Given the description of an element on the screen output the (x, y) to click on. 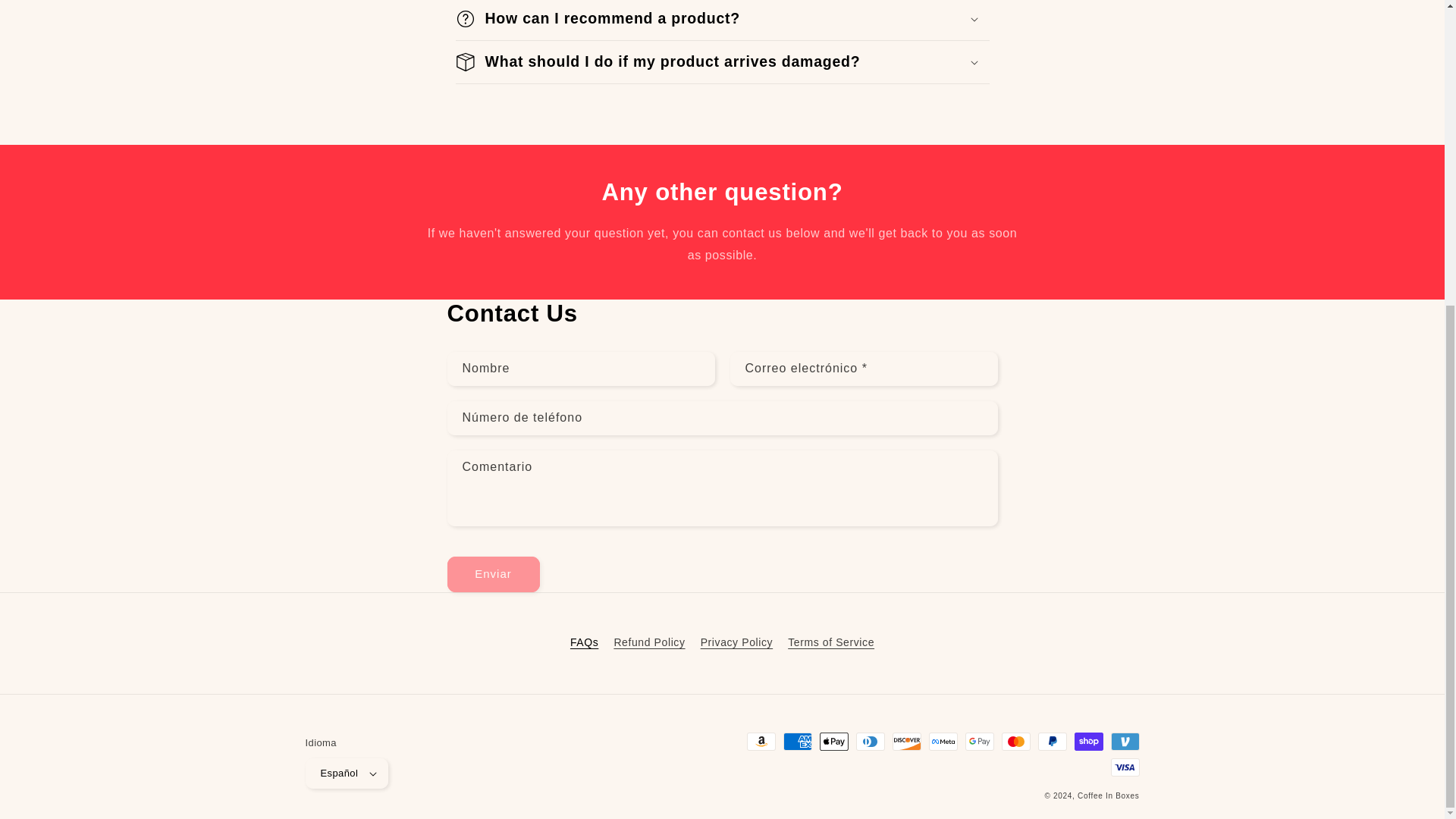
Enviar (493, 574)
FAQs (584, 644)
Coffee In Boxes (1107, 795)
Terms of Service (831, 642)
Refund Policy (648, 642)
Privacy Policy (736, 642)
